Given the description of an element on the screen output the (x, y) to click on. 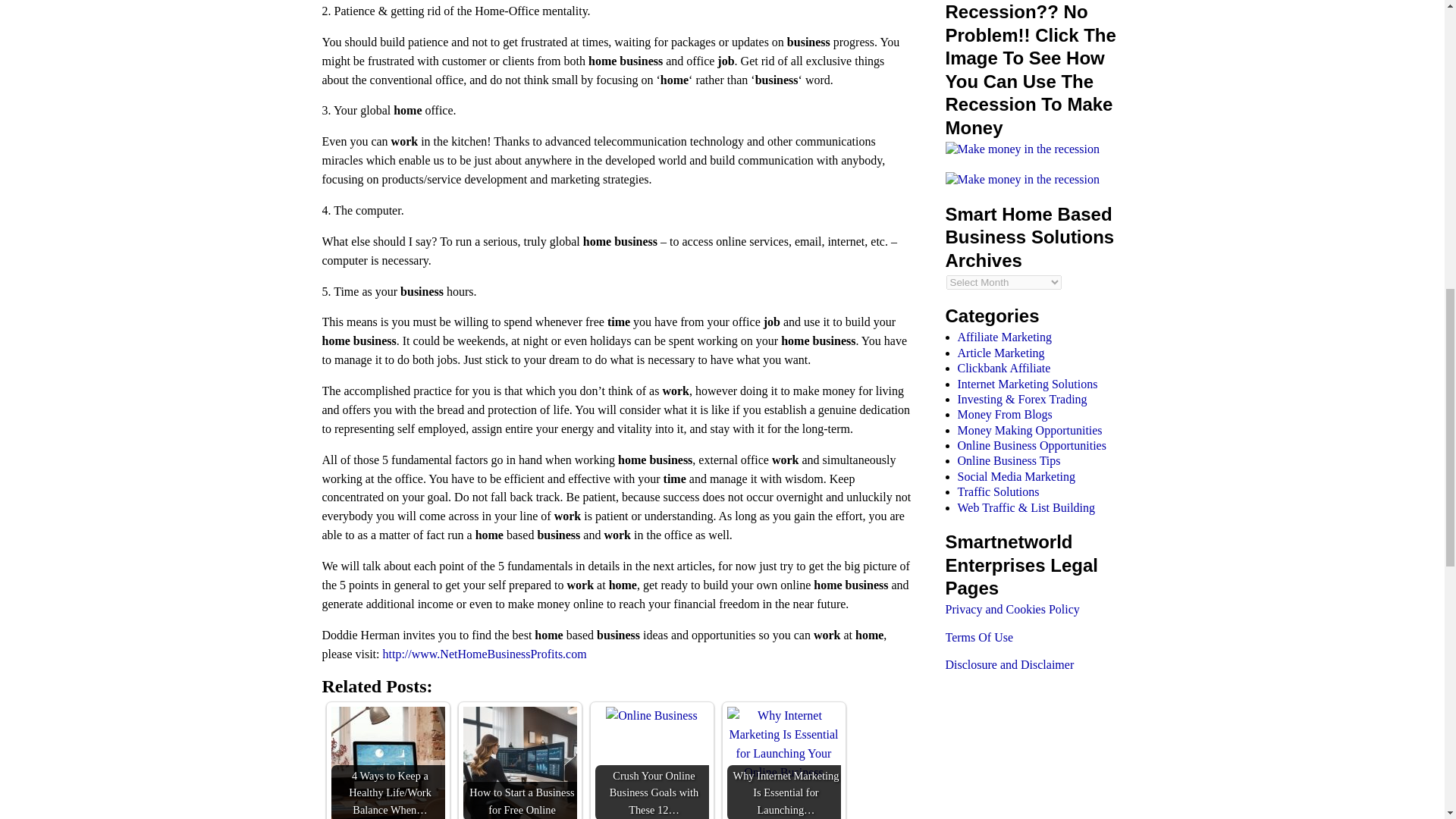
How to Start a Business for Free Online (519, 762)
How to Start a Business for Free Online (519, 762)
